Given the description of an element on the screen output the (x, y) to click on. 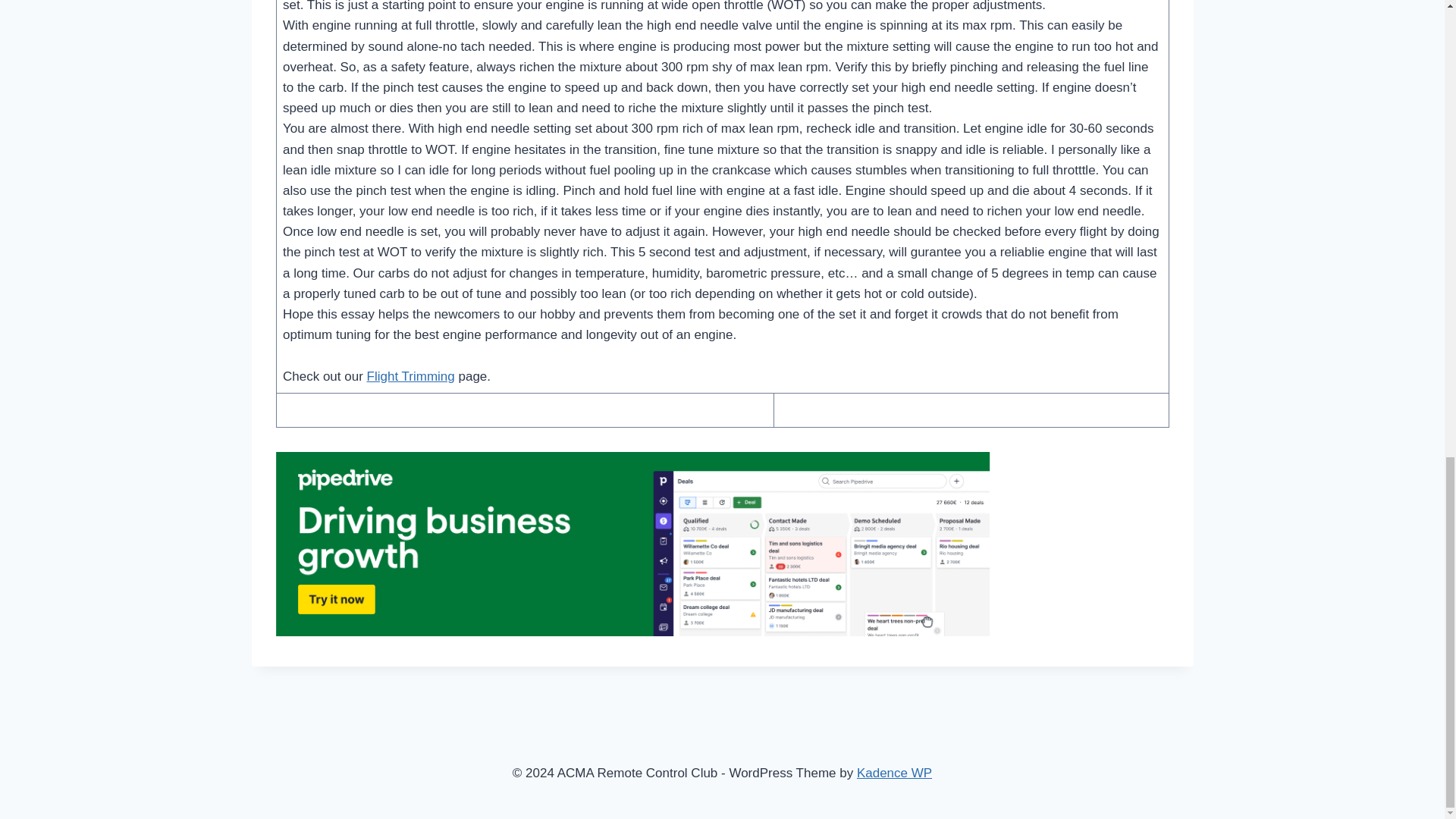
Kadence WP (894, 772)
Flight Trimming (410, 376)
